Given the description of an element on the screen output the (x, y) to click on. 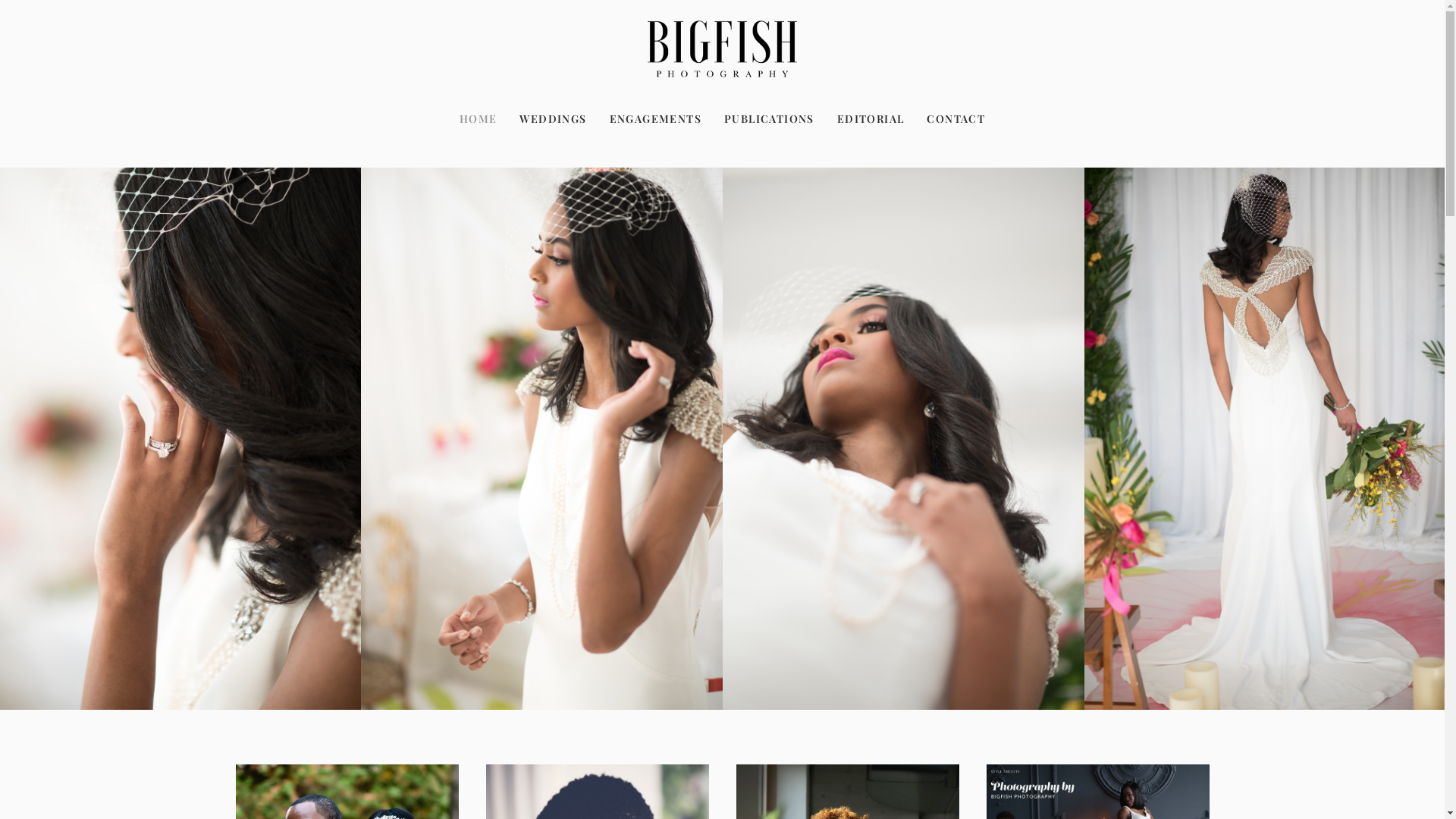
CONTACT Element type: text (950, 118)
WEDDINGS Element type: text (552, 118)
HOME Element type: text (483, 118)
ENGAGEMENTS Element type: text (655, 118)
EDITORIAL Element type: text (870, 118)
PUBLICATIONS Element type: text (769, 118)
